Given the description of an element on the screen output the (x, y) to click on. 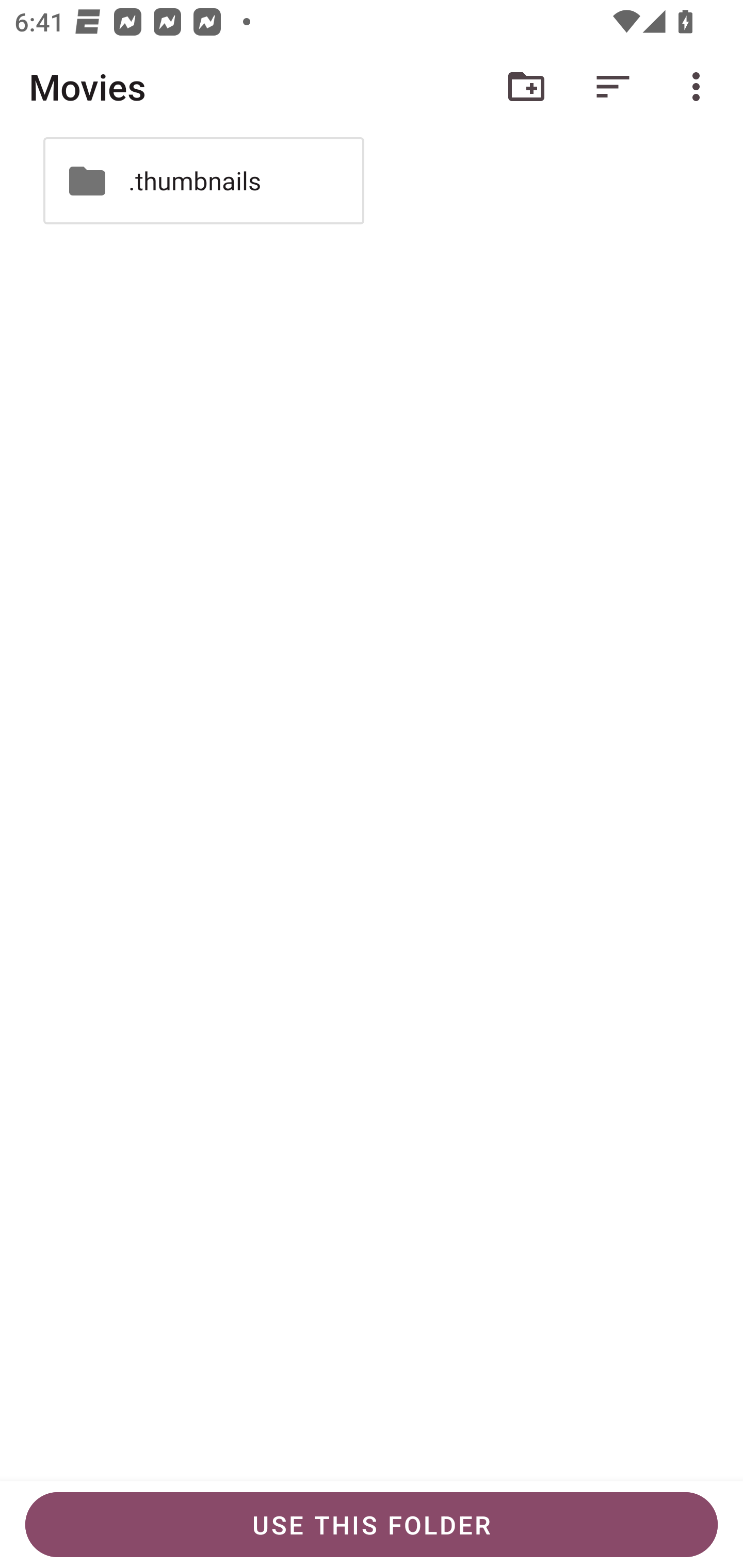
New folder (525, 86)
Sort by... (612, 86)
More options (699, 86)
.thumbnails (203, 180)
USE THIS FOLDER (371, 1524)
